Given the description of an element on the screen output the (x, y) to click on. 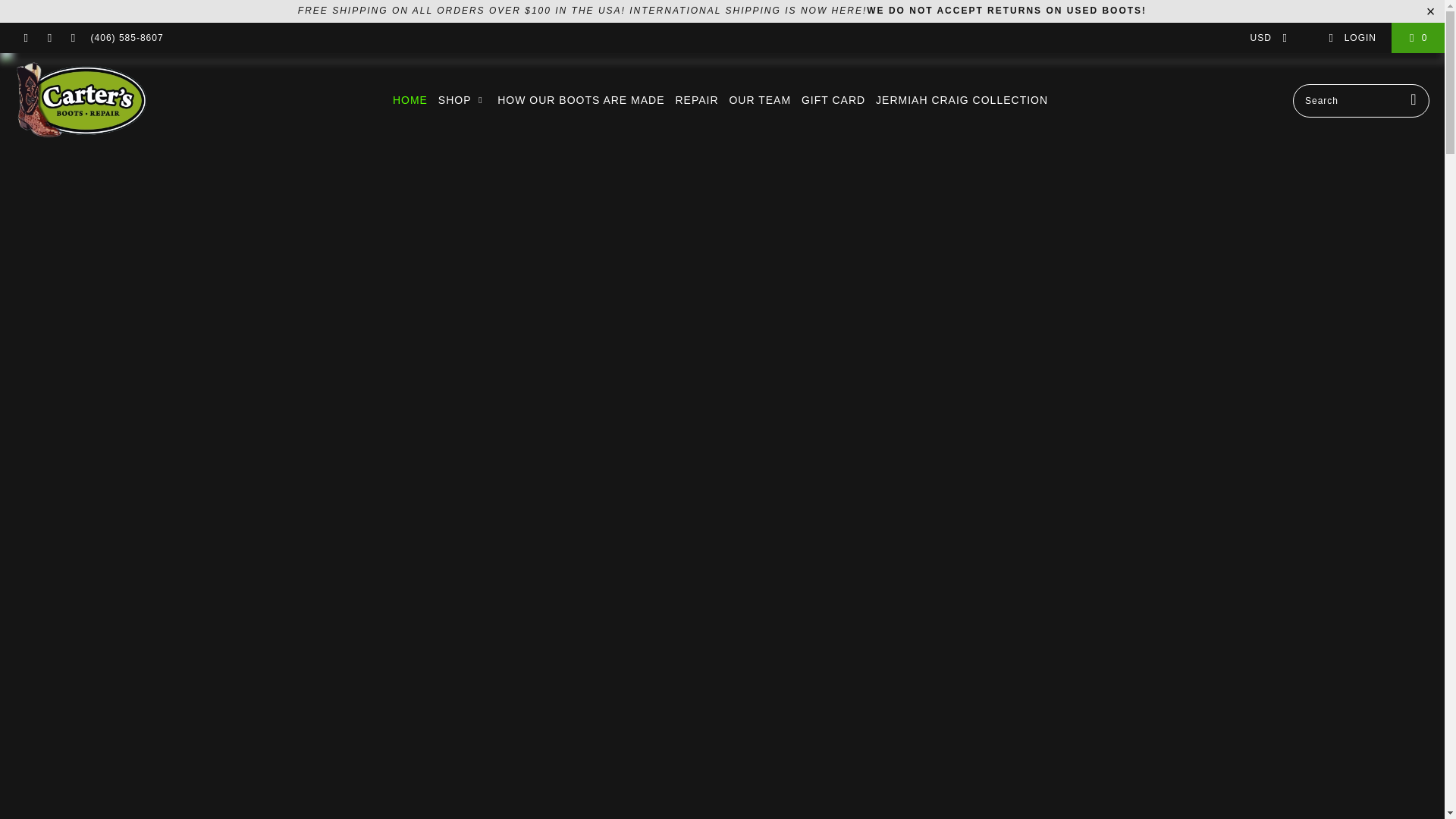
Carter's Boots and Repair on Facebook (25, 37)
Carter's Boots and Repair on Instagram (48, 37)
Carter's Boots and Repair (81, 100)
Email Carter's Boots and Repair (71, 37)
My Account  (1351, 37)
